Given the description of an element on the screen output the (x, y) to click on. 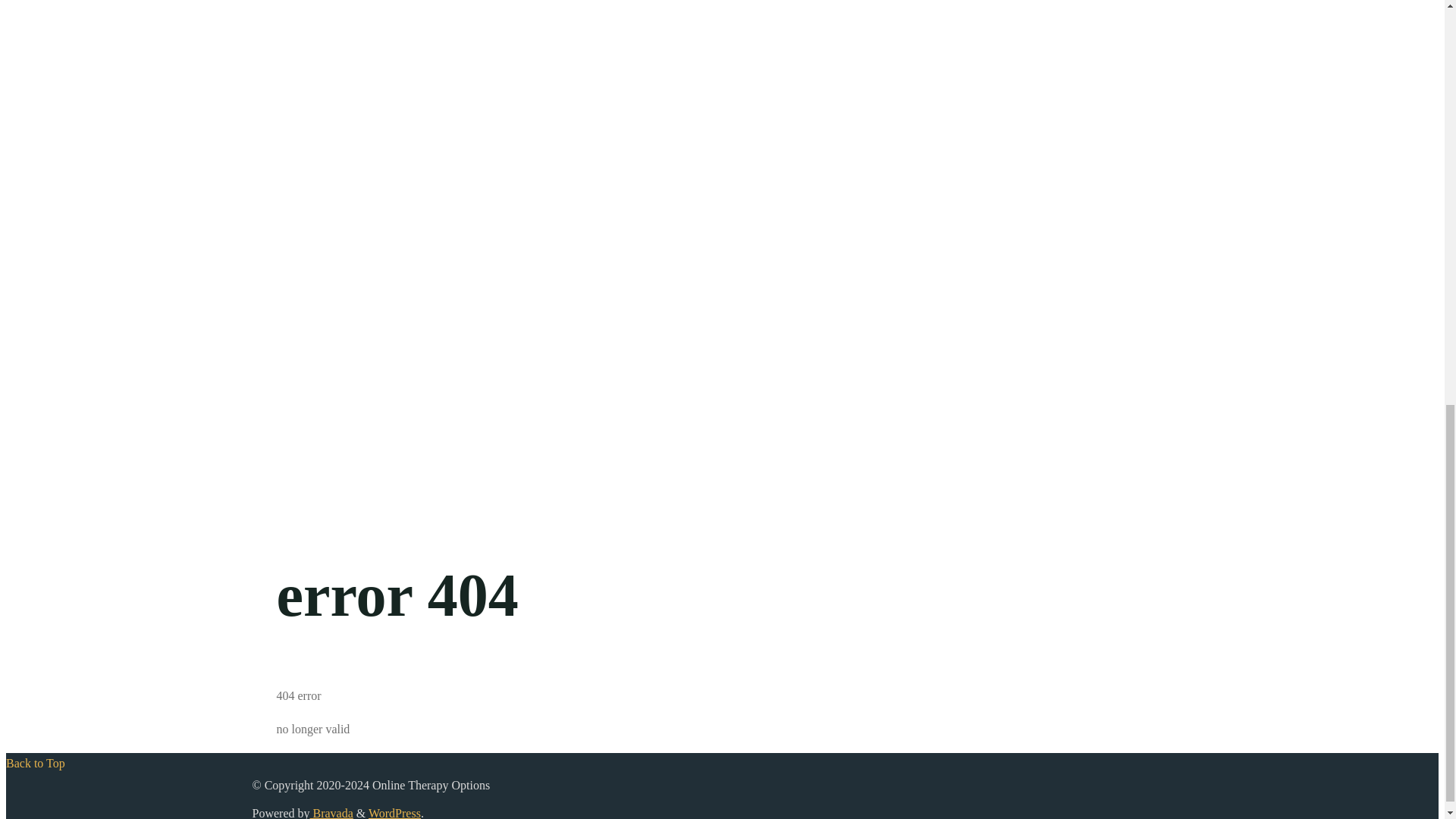
Privacy Policy (71, 11)
Terms of Use (68, 68)
Back to Top (35, 762)
